Given the description of an element on the screen output the (x, y) to click on. 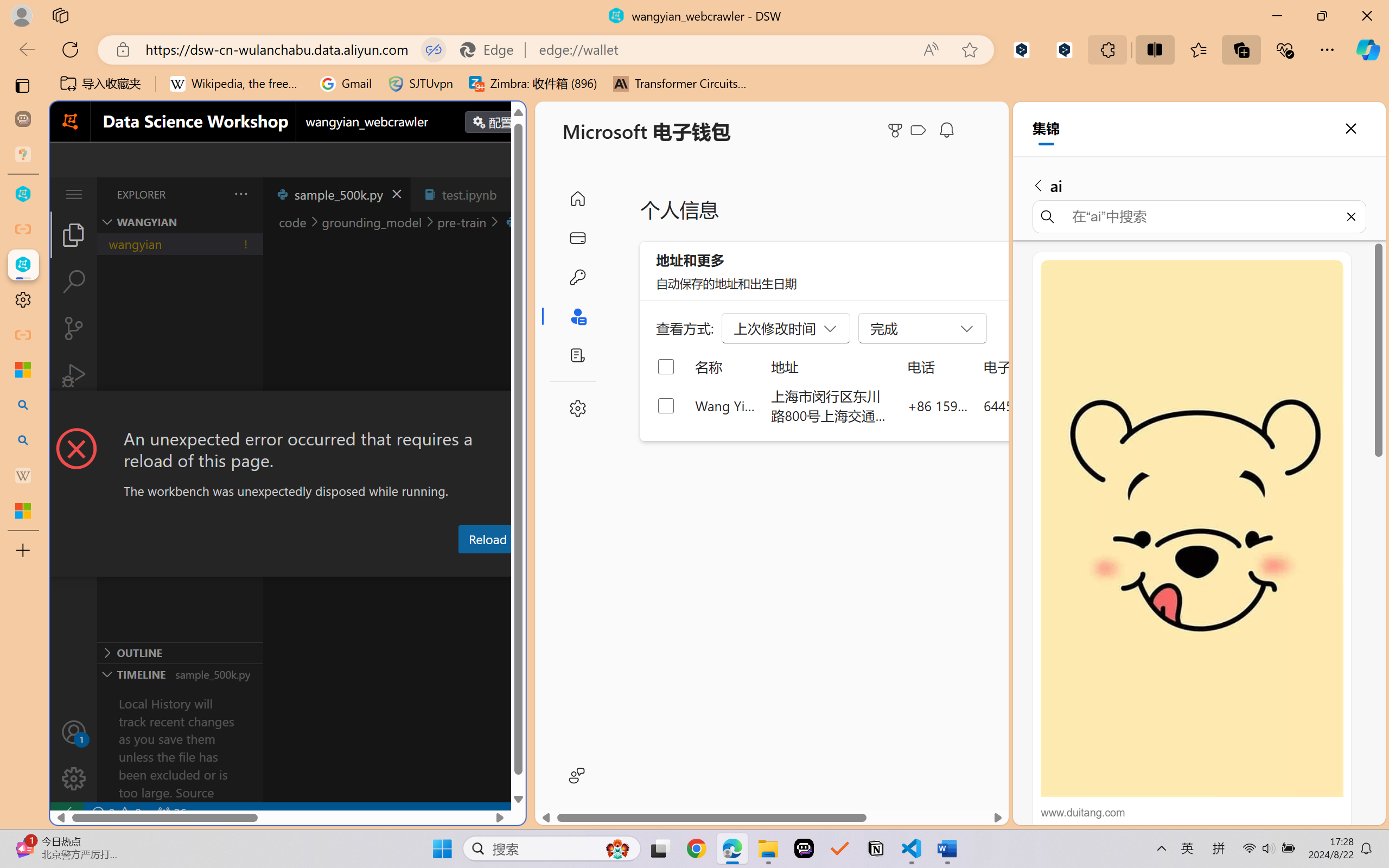
Gmail (345, 83)
Search (Ctrl+Shift+F) (73, 281)
+86 159 0032 4640 (938, 405)
644553698@qq.com (1043, 405)
Debug Console (Ctrl+Shift+Y) (463, 565)
